Given the description of an element on the screen output the (x, y) to click on. 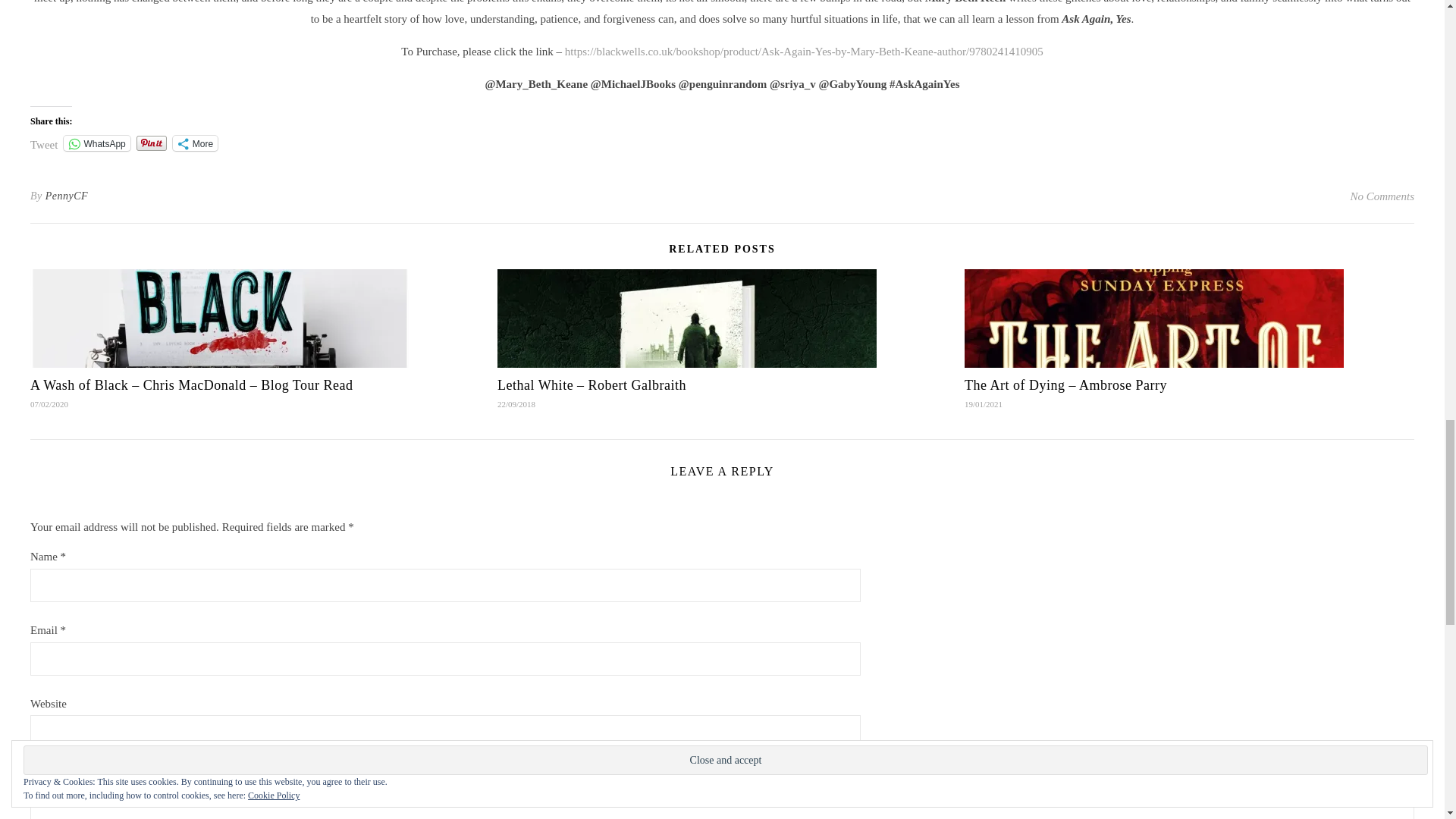
WhatsApp (96, 142)
PennyCF (66, 196)
Click to share on WhatsApp (96, 142)
Tweet (44, 142)
No Comments (1381, 196)
Posts by PennyCF (66, 196)
More (194, 142)
